Given the description of an element on the screen output the (x, y) to click on. 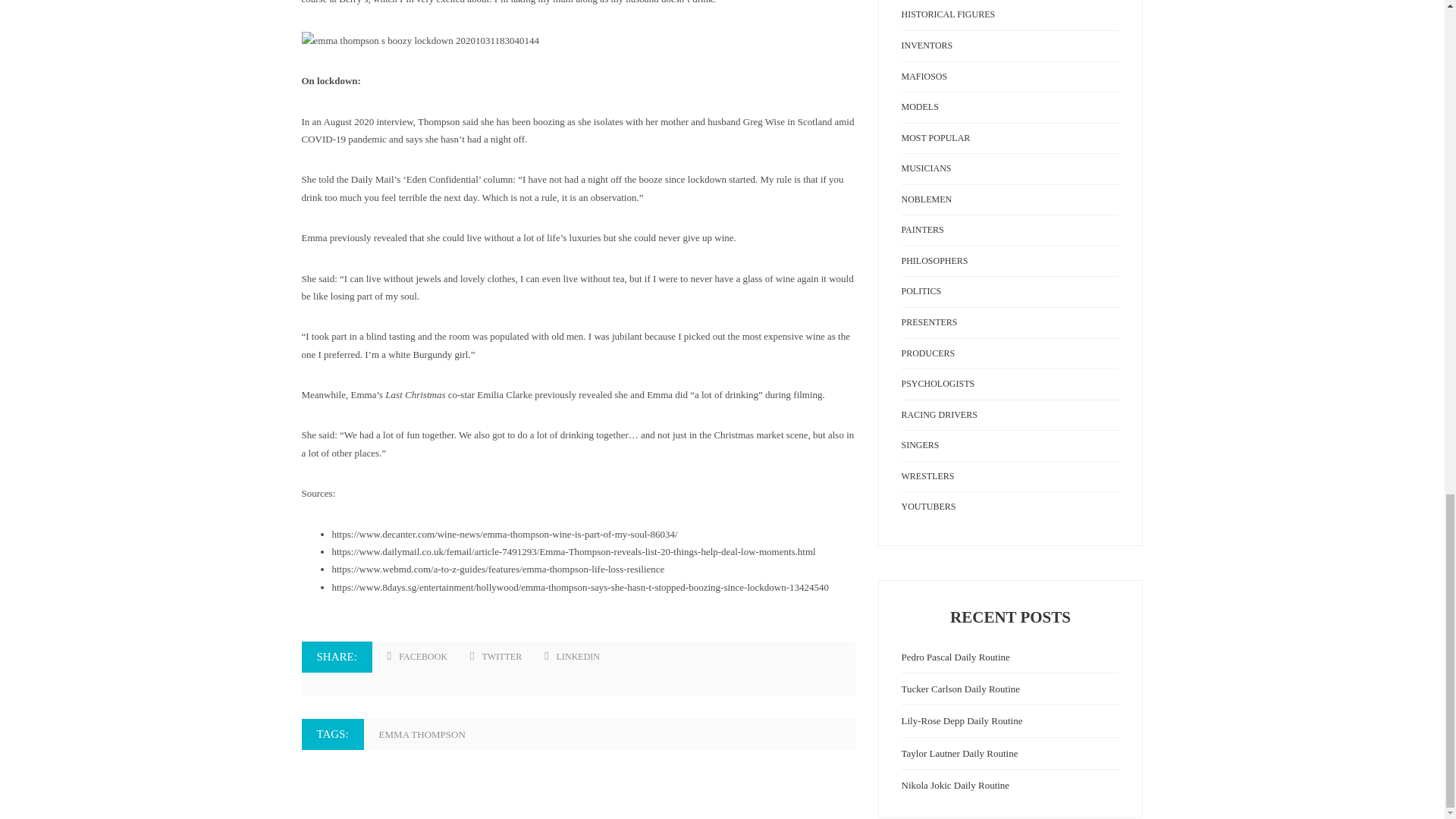
EMMA THOMPSON (429, 734)
FACEBOOK (416, 657)
Share toTwitter (495, 657)
TWITTER (495, 657)
LINKEDIN (571, 657)
Share toLinkedin (571, 657)
Share toFacebook (416, 657)
